Given the description of an element on the screen output the (x, y) to click on. 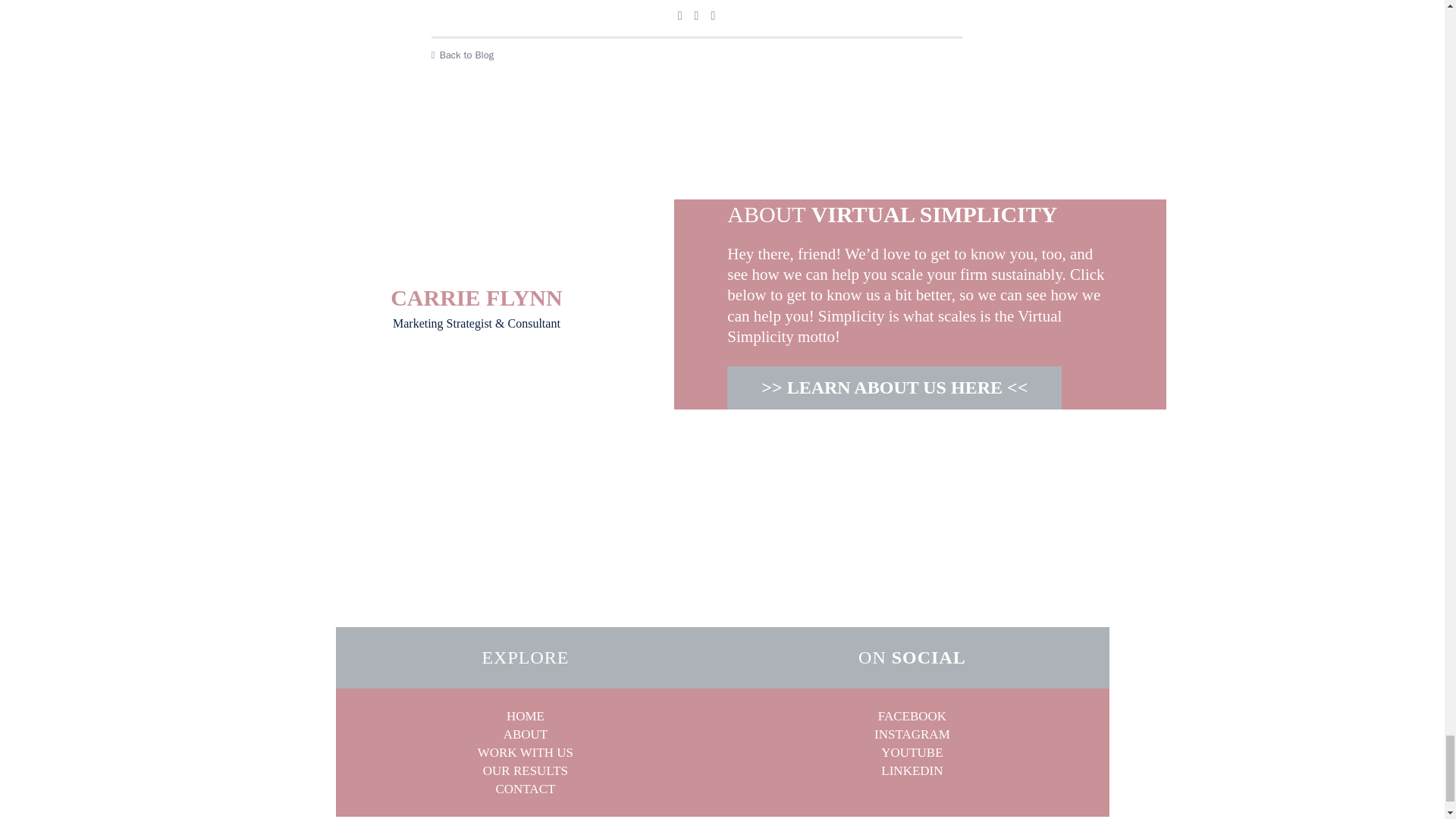
LINKEDIN (911, 770)
CONTACT (524, 788)
OUR RESULTS (525, 770)
HOME (525, 716)
YOUTUBE (911, 752)
FACEBOOK (911, 716)
INSTAGRAM (912, 734)
Back to Blog (695, 55)
WORK WITH US (525, 752)
ABOUT (525, 734)
